Given the description of an element on the screen output the (x, y) to click on. 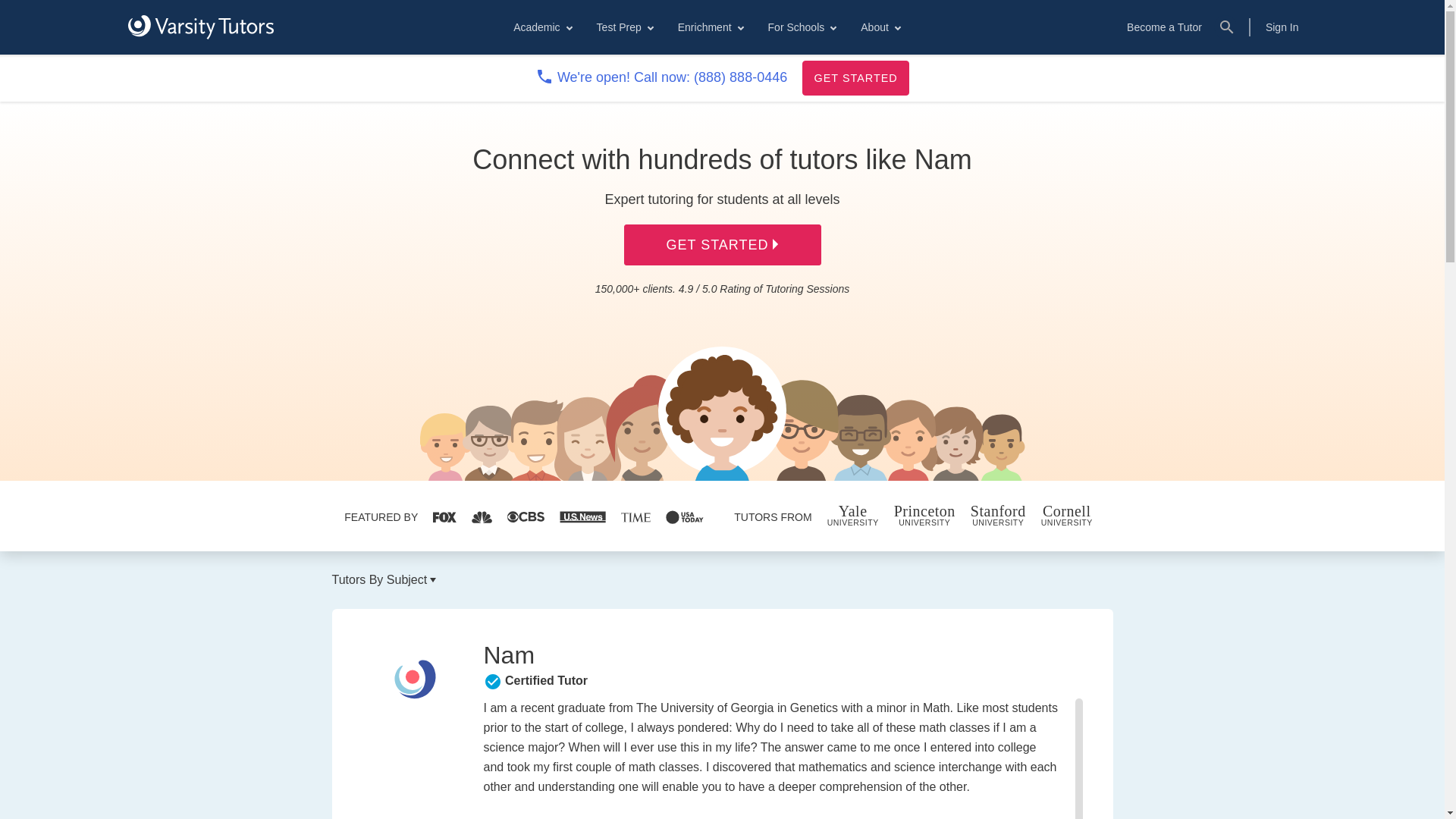
Varsity Tutors (200, 27)
Academic (541, 27)
Varsity Tutors (200, 26)
GET STARTED (855, 77)
